Given the description of an element on the screen output the (x, y) to click on. 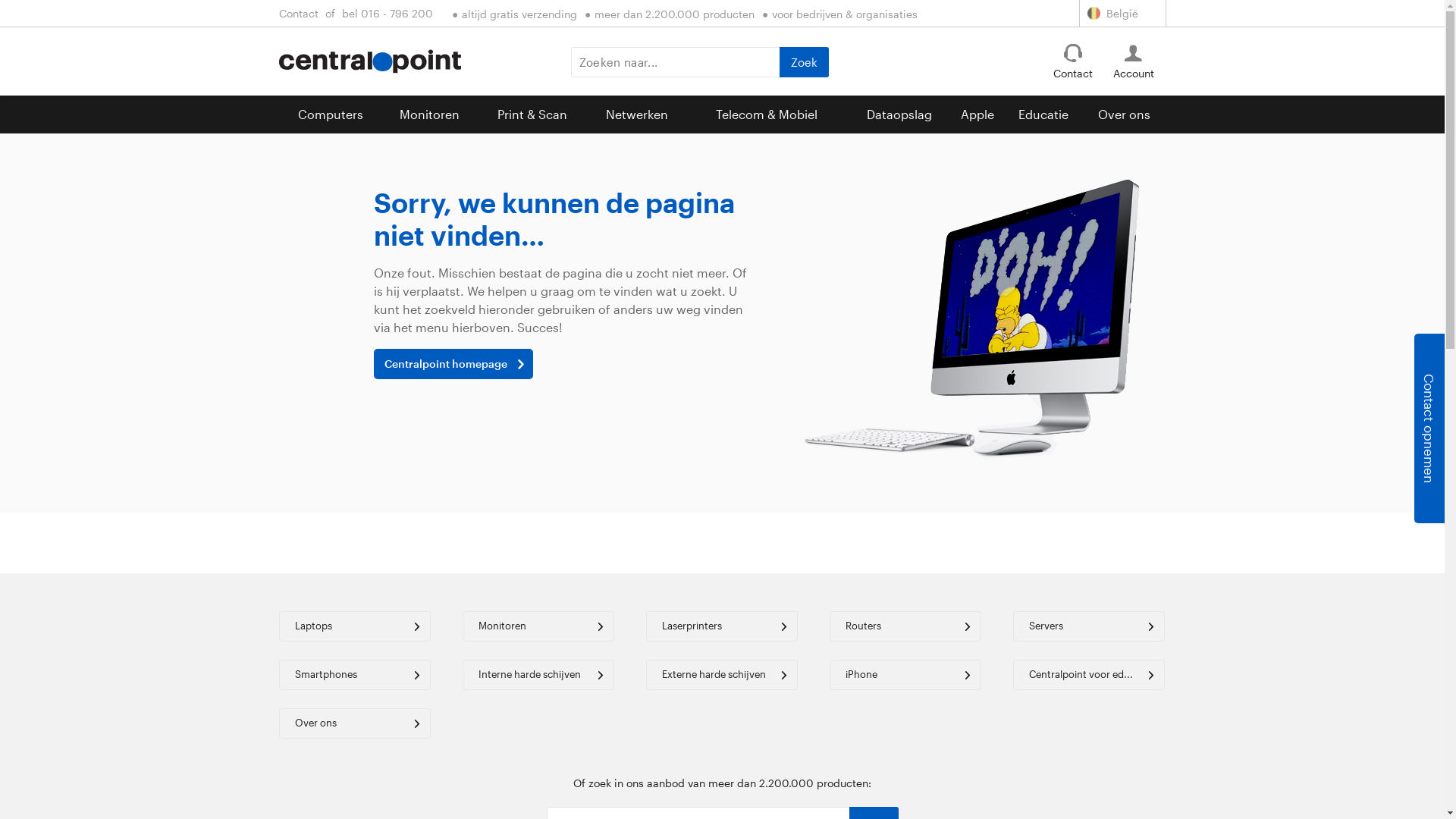
Educatie Element type: text (1042, 114)
Apple Element type: text (977, 114)
Servers Element type: text (1088, 626)
Externe harde schijven Element type: text (721, 674)
Zoek Element type: text (803, 62)
Contact Element type: text (1072, 73)
iPhone Element type: text (905, 674)
Interne harde schijven Element type: text (538, 674)
Print & Scan Element type: text (531, 114)
Over ons Element type: text (354, 723)
Computers Element type: text (330, 114)
Laptops Element type: text (354, 626)
Dataopslag Element type: text (898, 114)
Routers Element type: text (905, 626)
Telecom & Mobiel Element type: text (766, 114)
Netwerken Element type: text (636, 114)
Centralpoint homepage Element type: text (452, 363)
Laserprinters Element type: text (721, 626)
Over ons Element type: text (1123, 114)
bel 016 - 796 200 Element type: text (387, 12)
Monitoren Element type: text (538, 626)
Centralpoint voor ed... Element type: text (1088, 674)
Monitoren Element type: text (429, 114)
Contact Element type: text (297, 12)
Account Element type: text (1133, 73)
Smartphones Element type: text (354, 674)
